Given the description of an element on the screen output the (x, y) to click on. 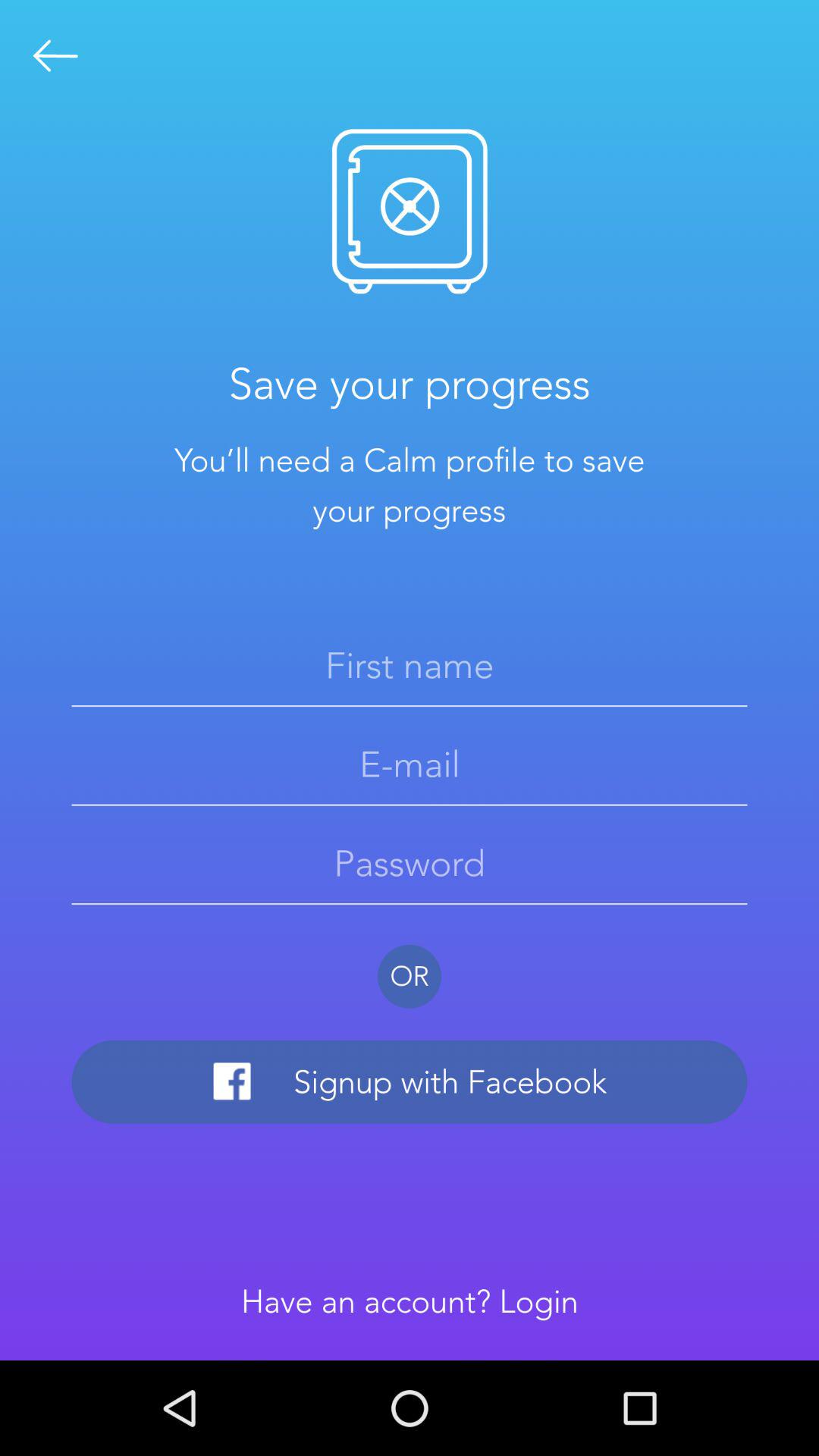
e-mail line (409, 763)
